Given the description of an element on the screen output the (x, y) to click on. 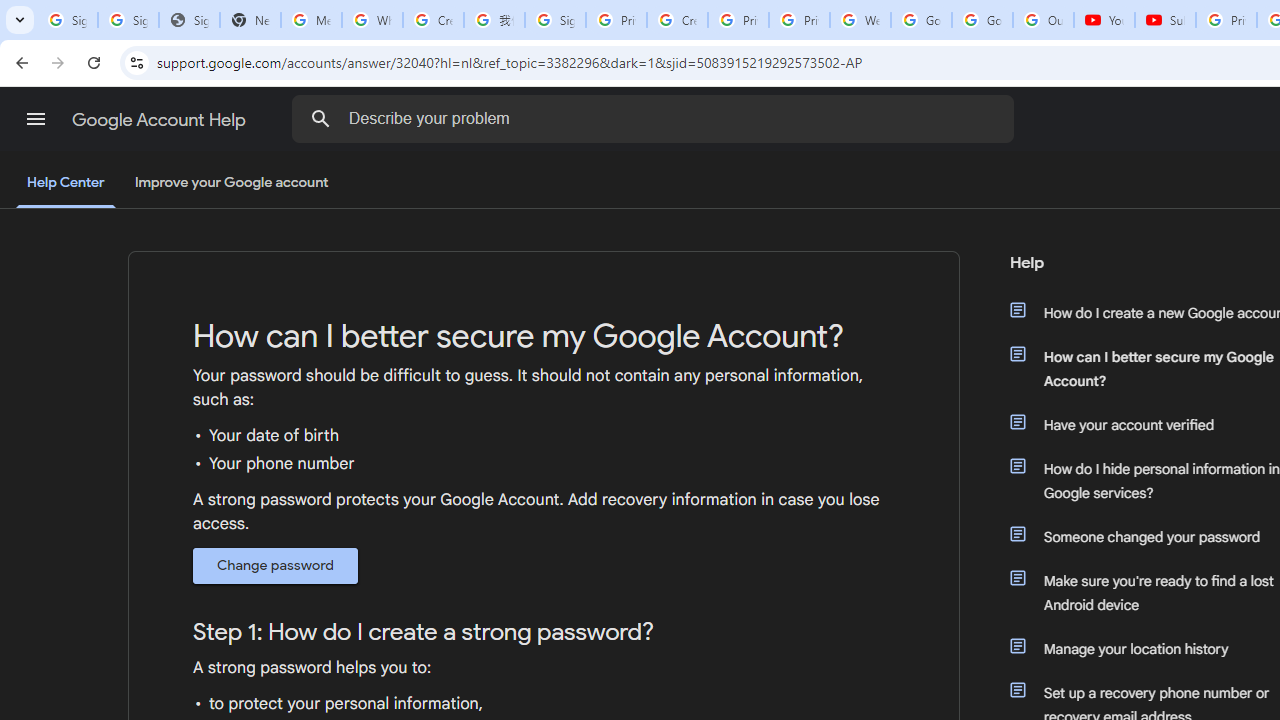
Improve your Google account (231, 183)
Search the Help Center (320, 118)
Create your Google Account (433, 20)
Change password (275, 565)
Help Center (65, 183)
Who is my administrator? - Google Account Help (372, 20)
